Given the description of an element on the screen output the (x, y) to click on. 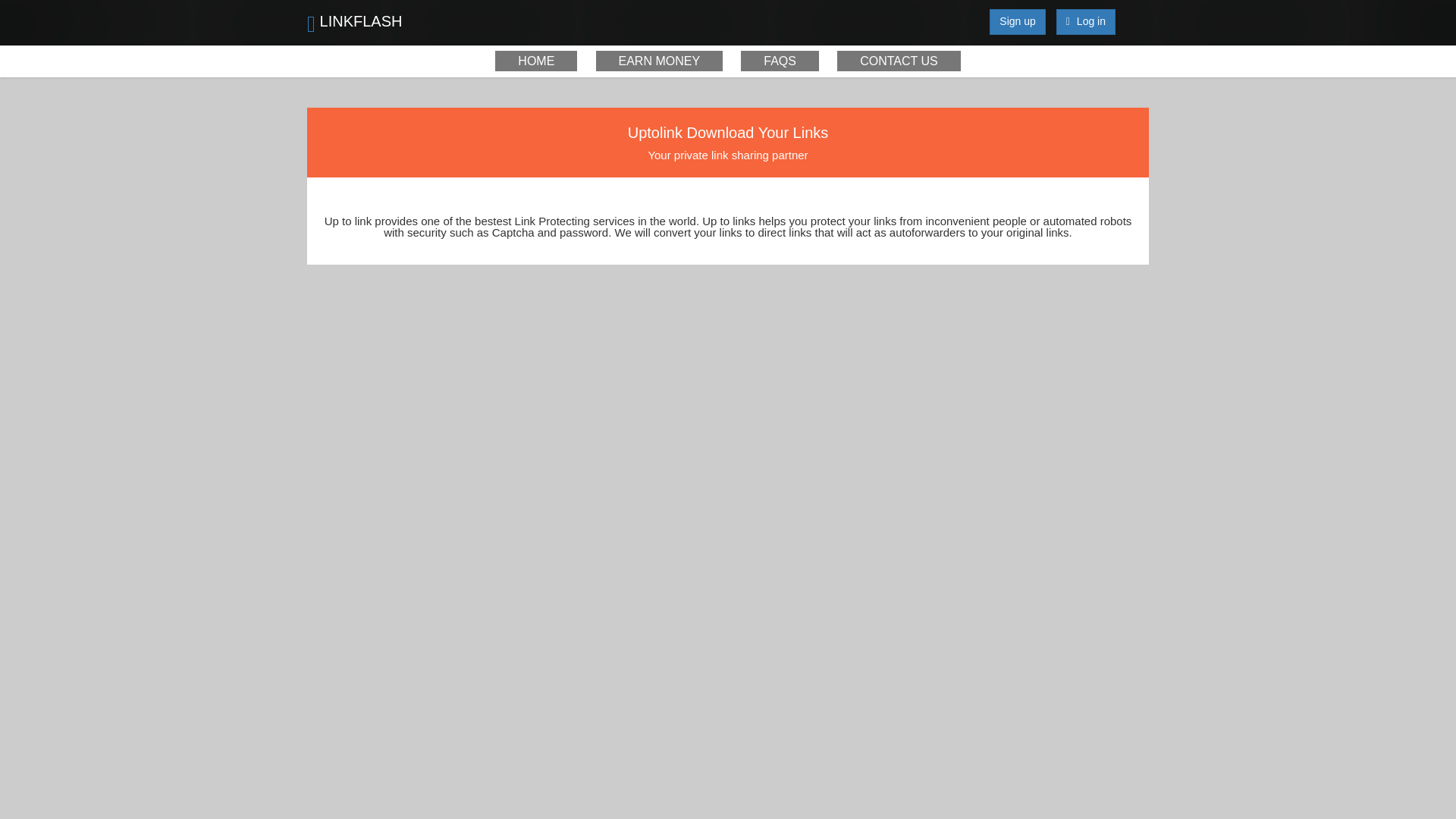
Log in (1086, 22)
EARN MONEY (659, 60)
Sign up (1017, 22)
CONTACT US (898, 60)
HOME (535, 60)
FAQS (779, 60)
